Given the description of an element on the screen output the (x, y) to click on. 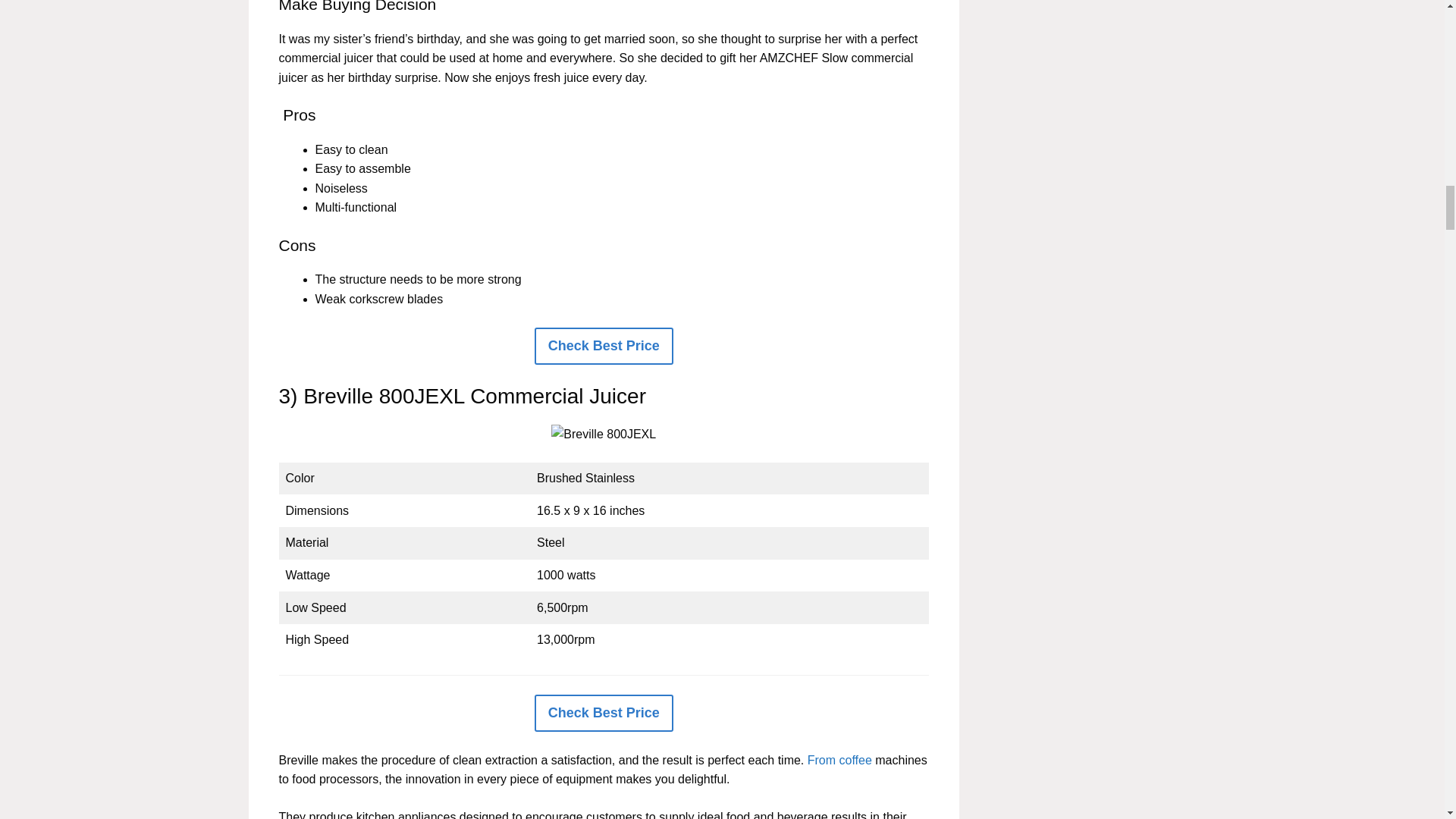
Check Best Price (603, 345)
Check Best Price (603, 713)
From coffee (840, 759)
